Given the description of an element on the screen output the (x, y) to click on. 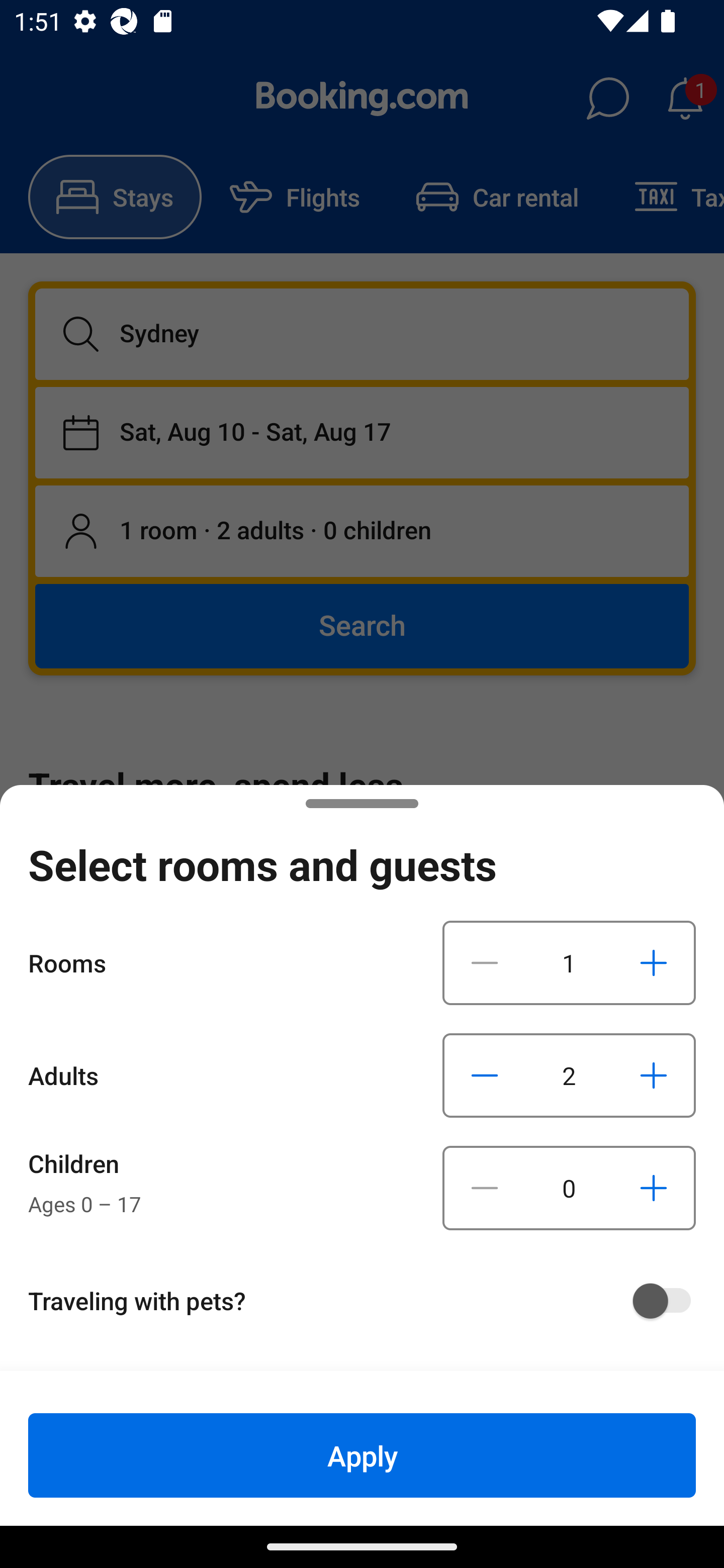
Decrease (484, 962)
Increase (653, 962)
Decrease (484, 1075)
Increase (653, 1075)
Decrease (484, 1188)
Increase (653, 1188)
Traveling with pets? (369, 1300)
Apply (361, 1454)
